Given the description of an element on the screen output the (x, y) to click on. 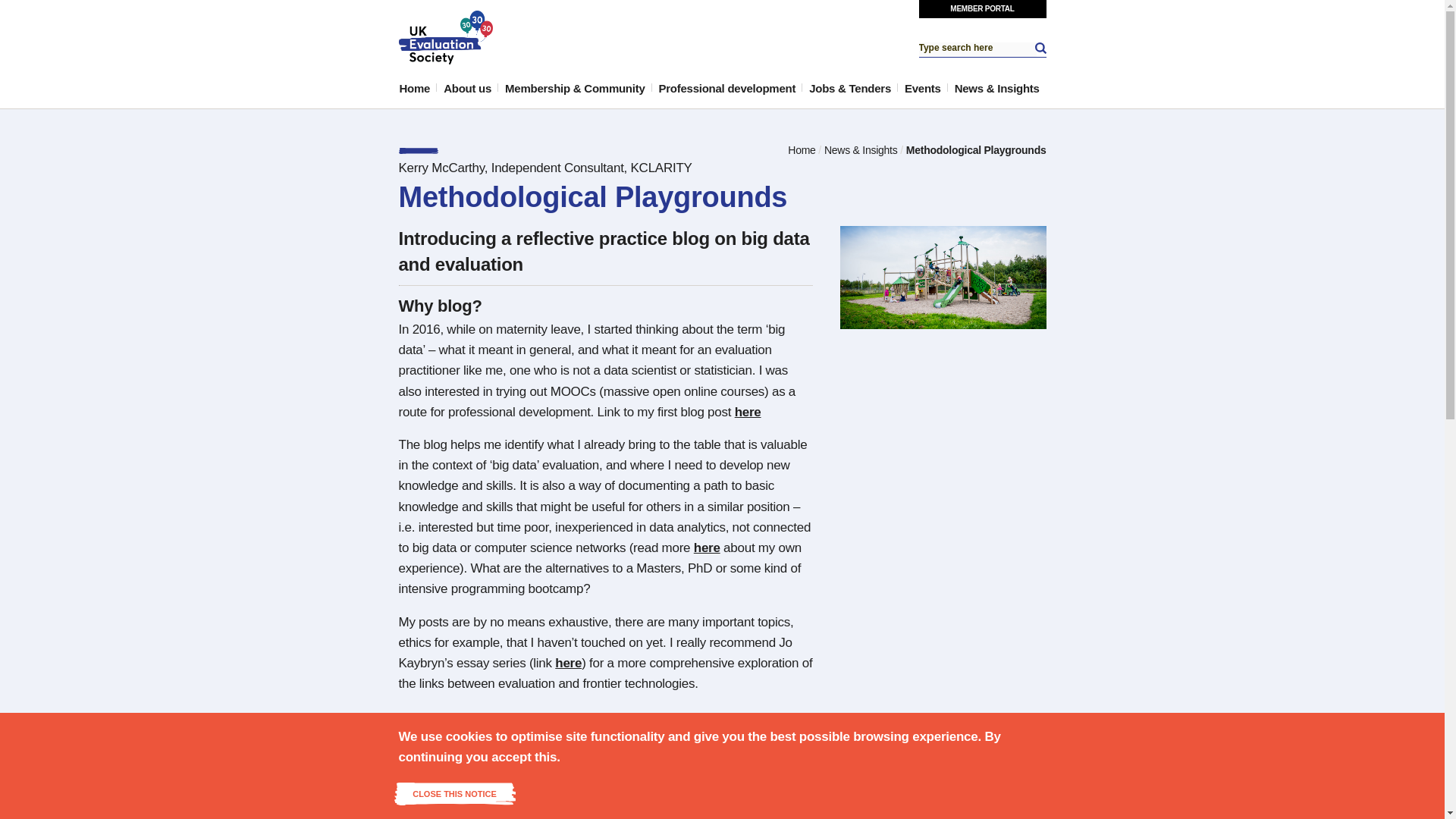
CLOSE THIS NOTICE (454, 793)
here (567, 663)
Professional development (727, 88)
MEMBER PORTAL (982, 9)
Home (414, 88)
About us (467, 88)
here (748, 411)
Home (801, 150)
Events (922, 88)
here (707, 547)
